Given the description of an element on the screen output the (x, y) to click on. 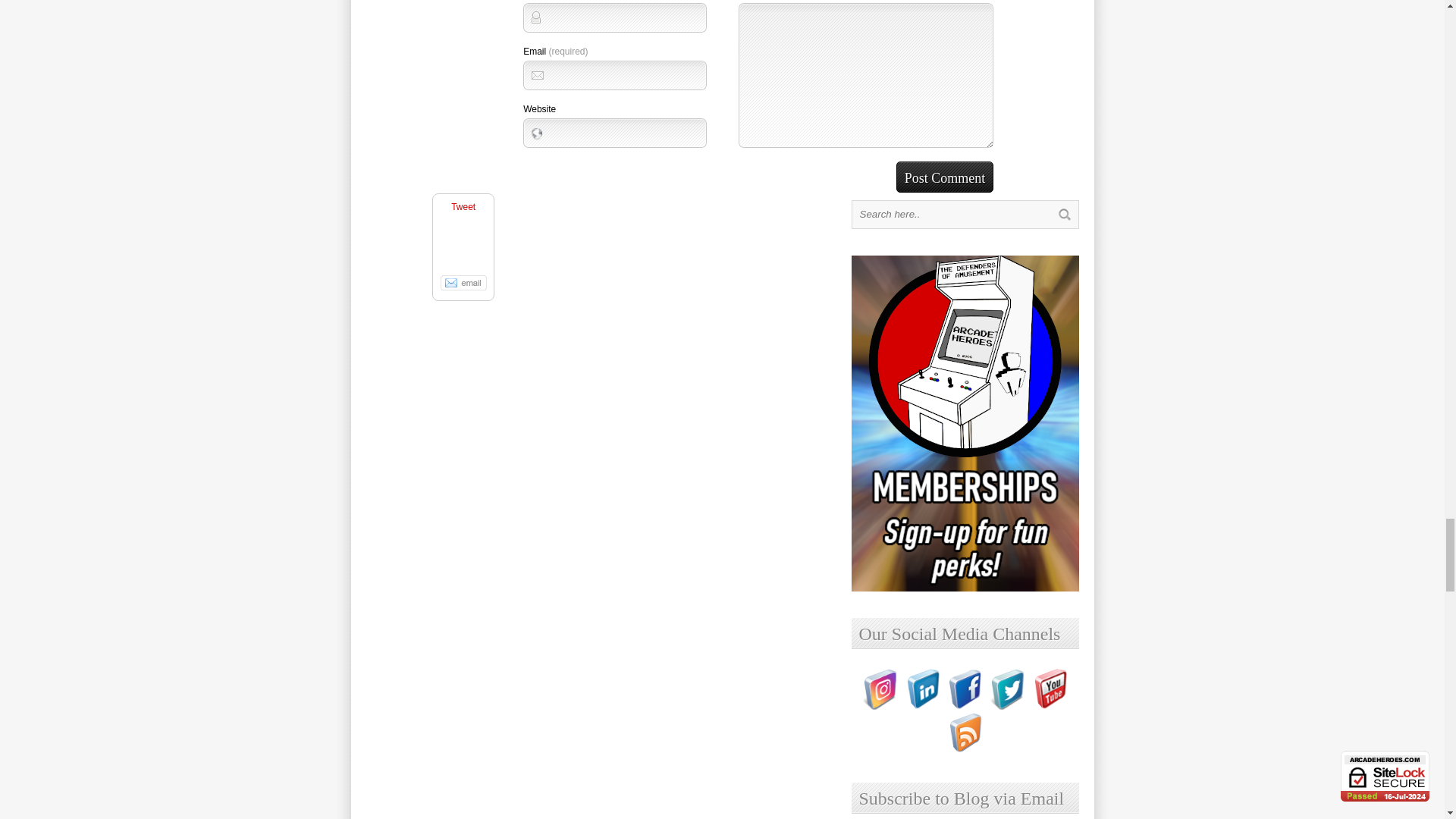
Search here.. (951, 214)
Post Comment (945, 176)
